Given the description of an element on the screen output the (x, y) to click on. 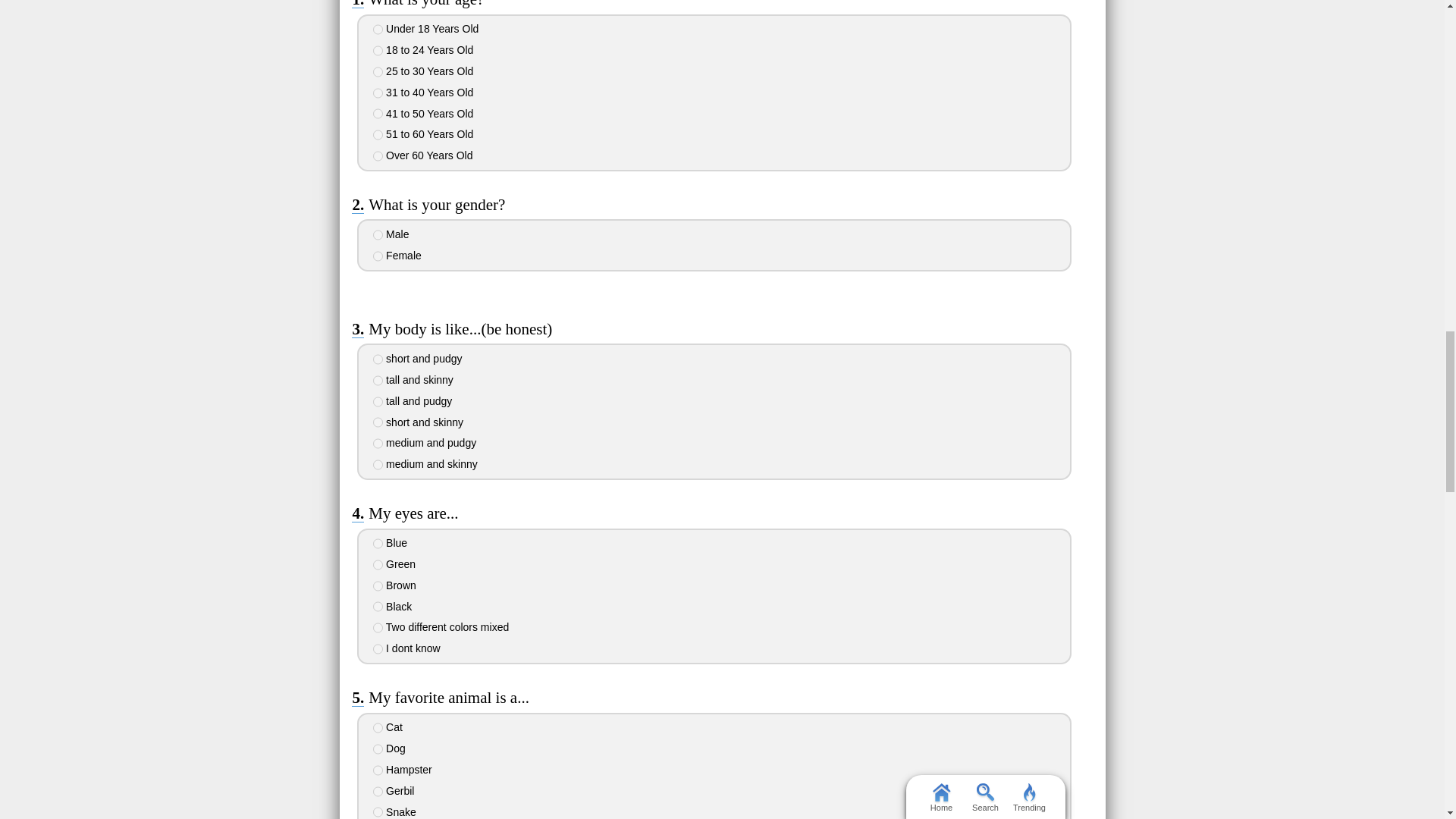
1 (377, 358)
6 (377, 134)
4 (377, 92)
3 (377, 585)
1 (377, 29)
3 (377, 401)
1 (377, 235)
3 (377, 71)
7 (377, 155)
5 (377, 627)
2 (377, 564)
5 (377, 113)
4 (377, 421)
2 (377, 255)
6 (377, 464)
